Given the description of an element on the screen output the (x, y) to click on. 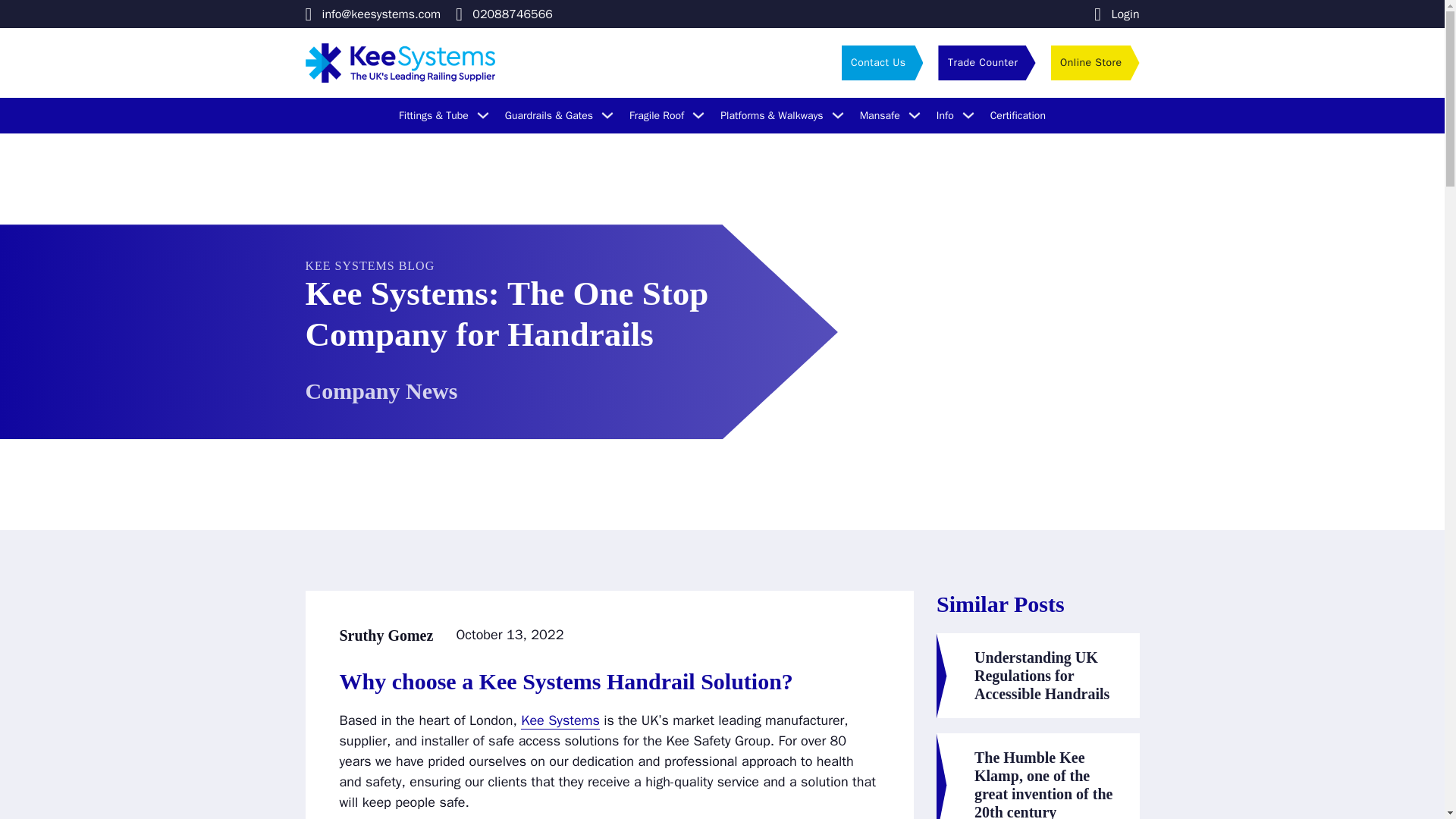
02088746566 (504, 13)
Contact Us (882, 62)
Login (1116, 13)
Trade Counter (986, 62)
Fragile Roof (656, 115)
Online Store (1095, 62)
